Given the description of an element on the screen output the (x, y) to click on. 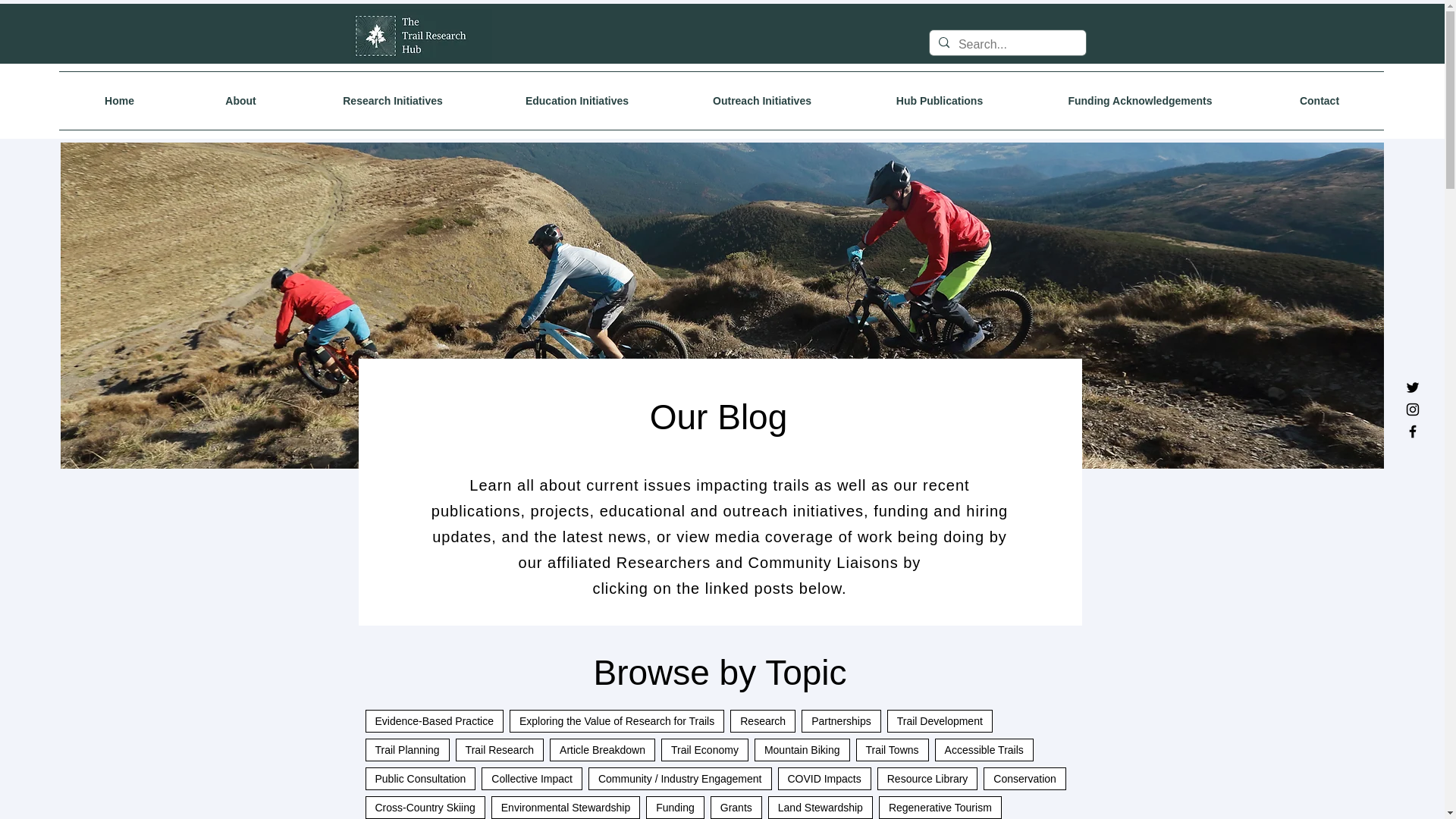
Evidence-Based Practice (434, 721)
Hub Publications (939, 100)
Partnerships (841, 721)
Contact (1319, 100)
About (240, 100)
Outreach Initiatives (761, 100)
Education Initiatives (576, 100)
Trail Planning (407, 749)
Trail Development (939, 721)
Exploring the Value of Research for Trails (616, 721)
